Given the description of an element on the screen output the (x, y) to click on. 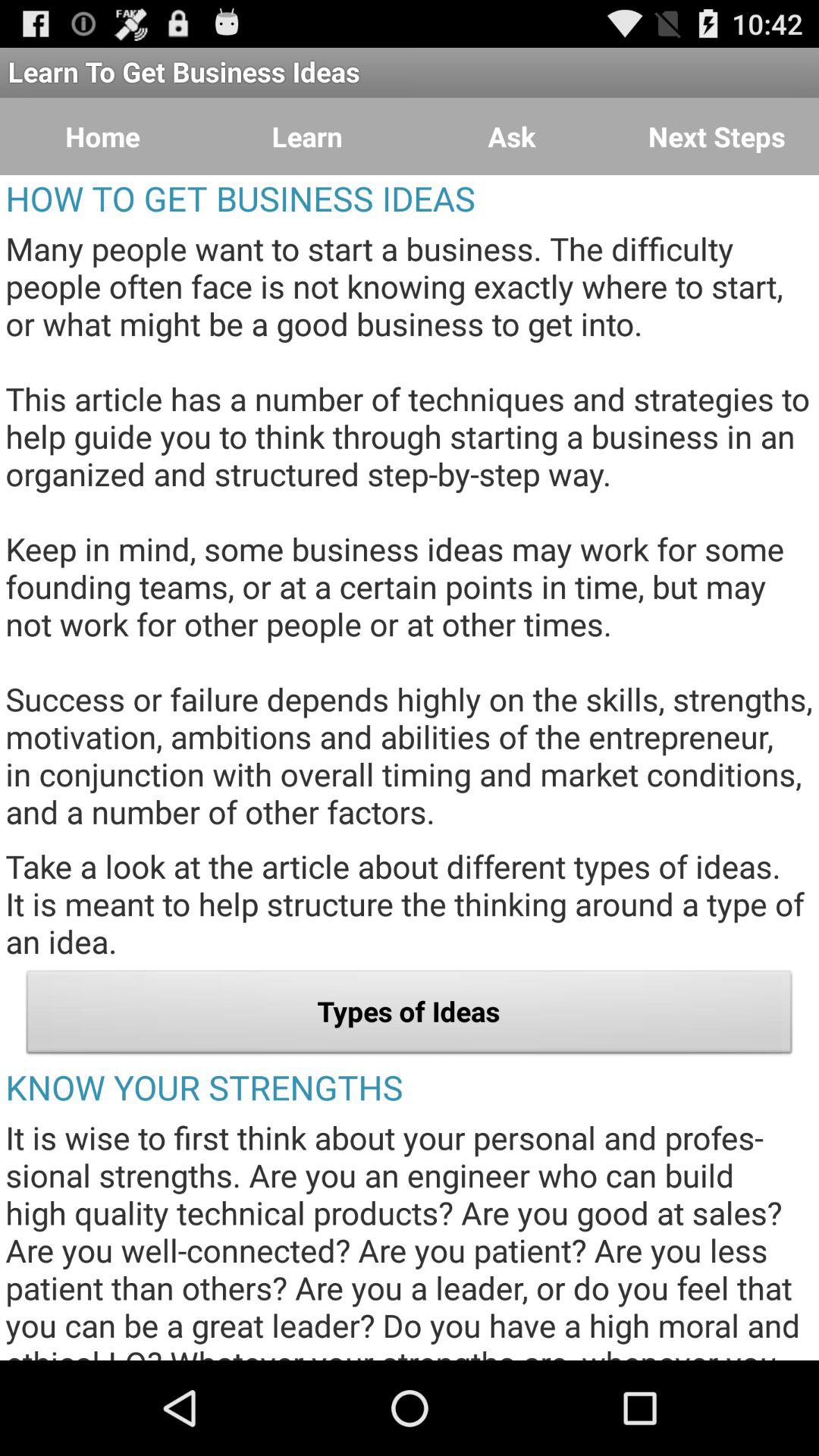
turn off icon above how to get (102, 136)
